Given the description of an element on the screen output the (x, y) to click on. 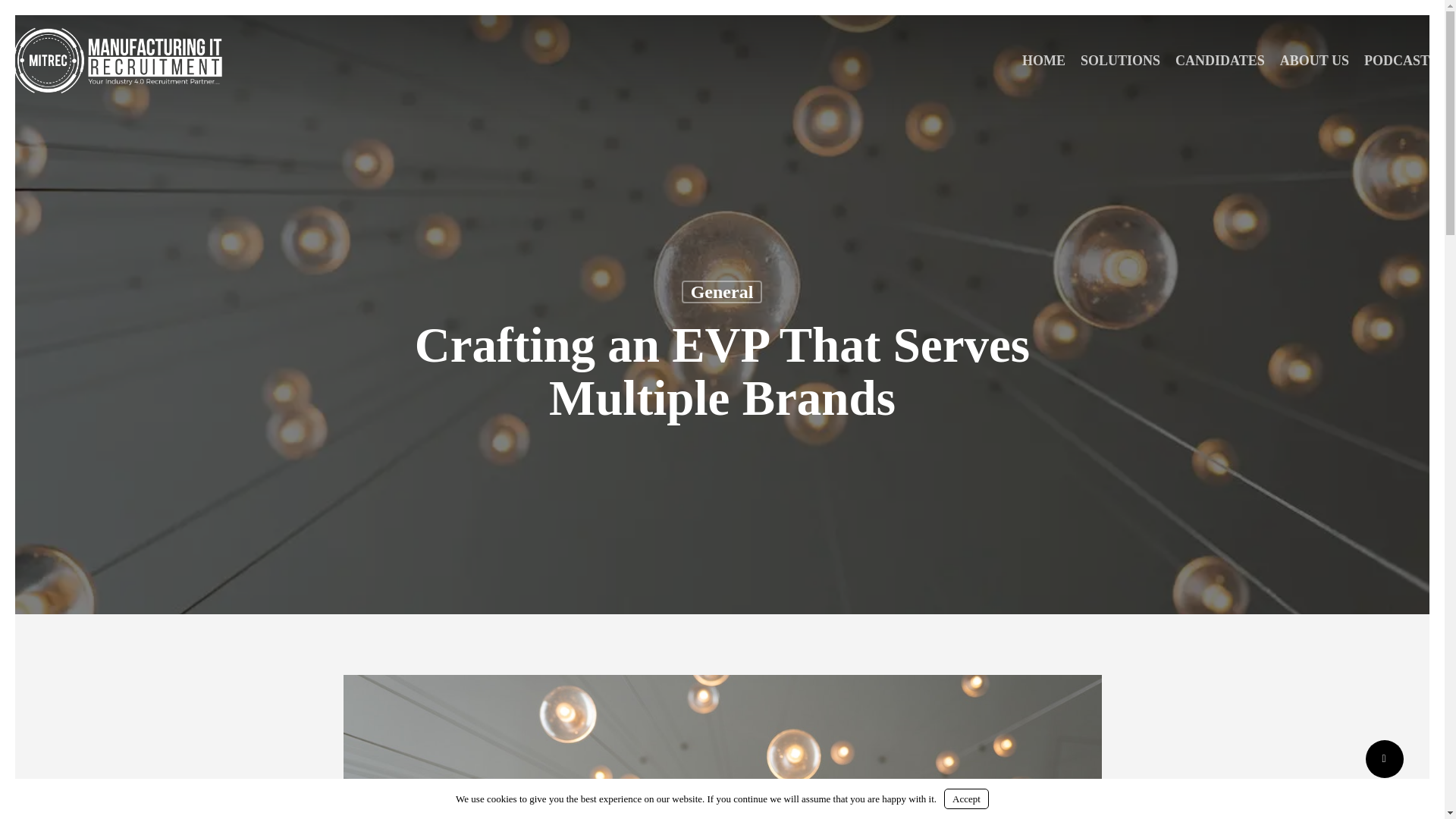
General (721, 291)
SOLUTIONS (1120, 60)
HOME (1043, 60)
CANDIDATES (1219, 60)
PODCAST (1396, 60)
ABOUT US (1314, 60)
